Given the description of an element on the screen output the (x, y) to click on. 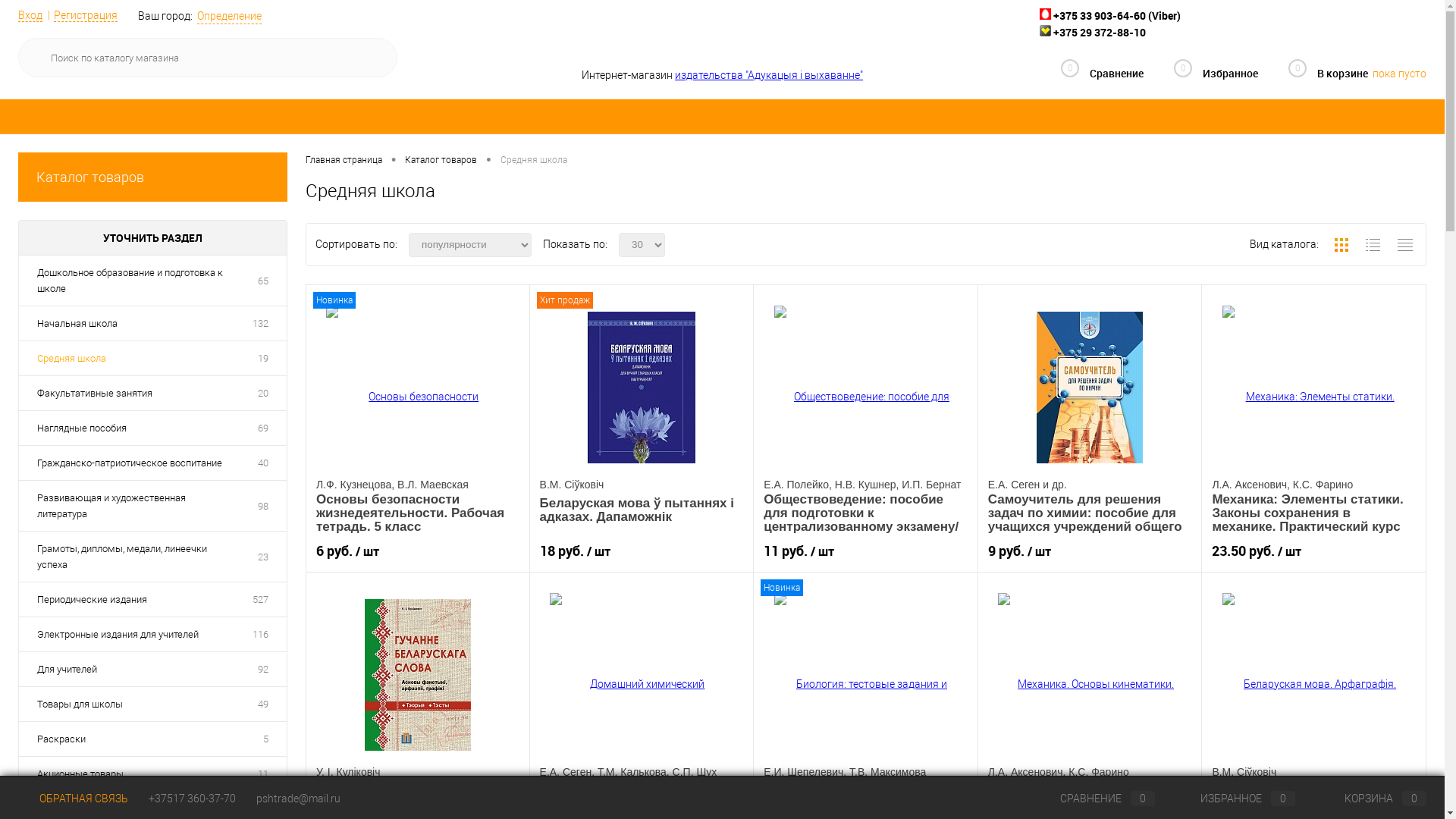
116 Element type: text (260, 634)
0 Element type: text (1062, 76)
11 Element type: text (262, 773)
0 Element type: text (1175, 76)
23 Element type: text (262, 556)
5 Element type: text (265, 738)
49 Element type: text (262, 704)
pshtrade@mail.ru Element type: text (298, 798)
+37517 360-37-70 Element type: text (191, 798)
132 Element type: text (260, 323)
92 Element type: text (262, 669)
Y Element type: text (374, 57)
69 Element type: text (262, 428)
527 Element type: text (260, 599)
0 Element type: text (1289, 74)
40 Element type: text (262, 462)
65 Element type: text (262, 280)
20 Element type: text (262, 393)
98 Element type: text (262, 505)
19 Element type: text (262, 358)
